Given the description of an element on the screen output the (x, y) to click on. 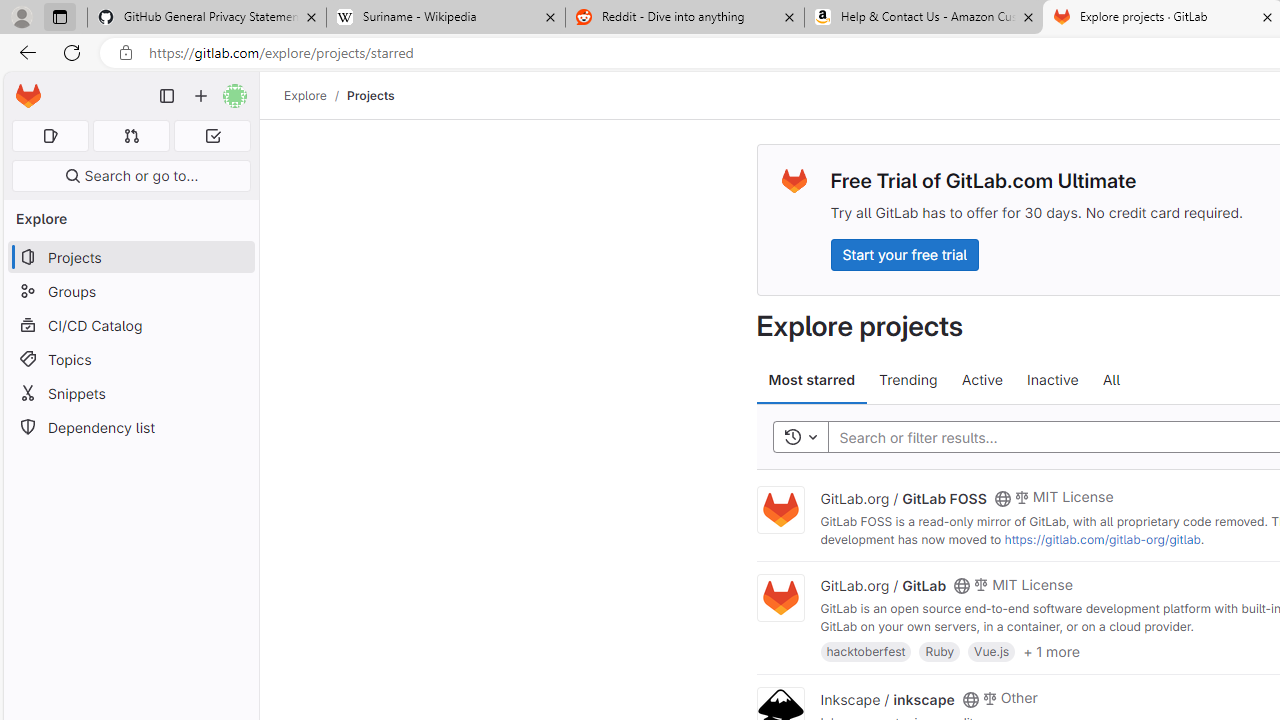
hacktoberfest (866, 650)
Dependency list (130, 427)
Snippets (130, 393)
Primary navigation sidebar (167, 96)
Explore/ (316, 95)
Assigned issues 0 (50, 136)
Vue.js (991, 650)
Class: project (780, 597)
Create new... (201, 96)
Inkscape / inkscape (887, 698)
Topics (130, 358)
+ 1 more (1051, 650)
CI/CD Catalog (130, 325)
